Given the description of an element on the screen output the (x, y) to click on. 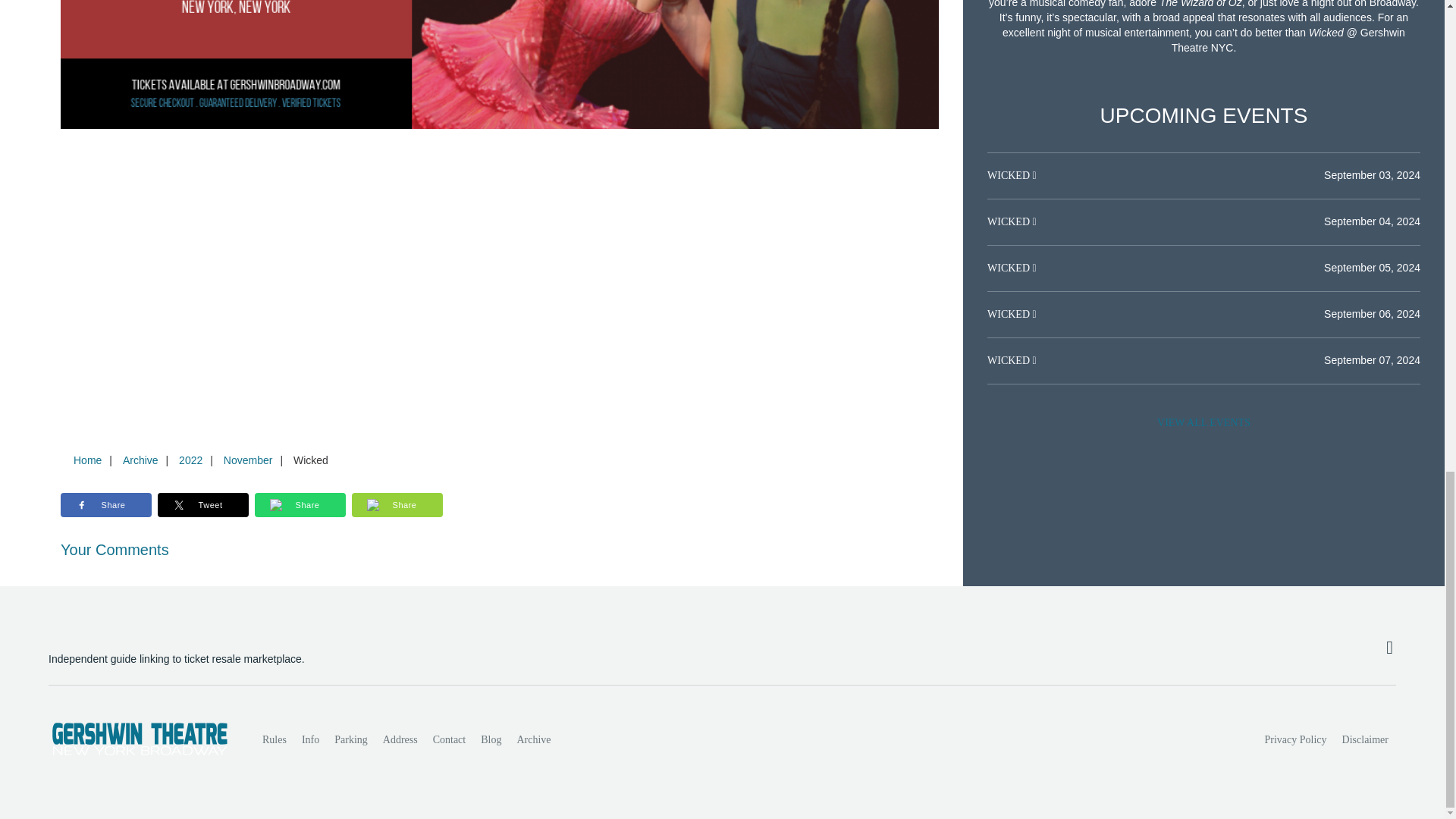
Disclaimer (1365, 739)
November (248, 460)
WICKED (1009, 174)
VIEW ALL EVENTS (1203, 422)
Privacy Policy (1296, 739)
Wicked at Gershwin Theatre tickets (500, 63)
Address (400, 739)
Blog (490, 739)
Home (87, 460)
Parking (350, 739)
